Given the description of an element on the screen output the (x, y) to click on. 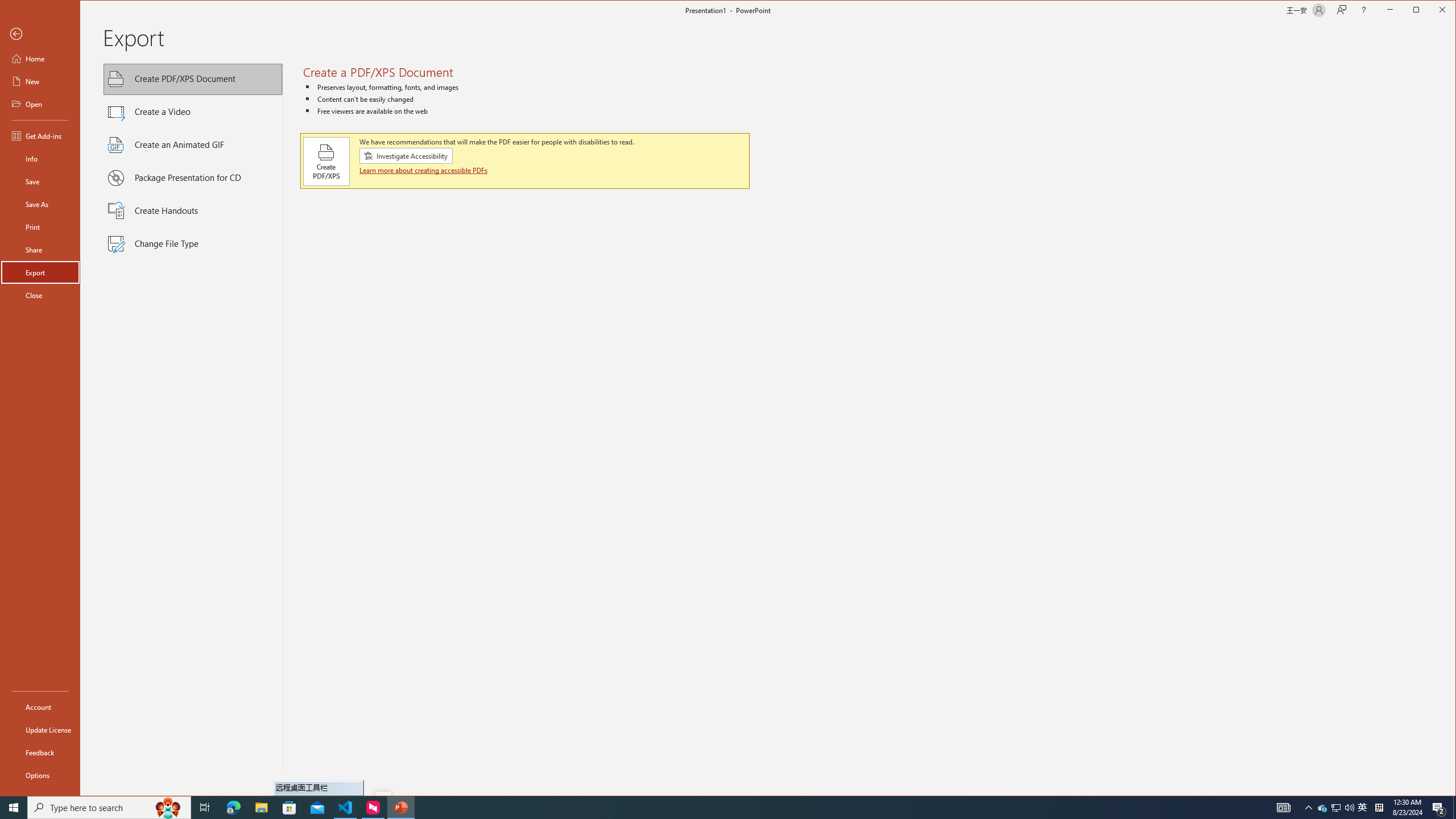
User Promoted Notification Area (1336, 807)
Package Presentation for CD (193, 178)
Create PDF/XPS (325, 160)
Search highlights icon opens search home window (167, 807)
Create a Video (193, 111)
Action Center, 2 new notifications (1439, 807)
Q2790: 100% (1349, 807)
Type here to search (108, 807)
Change File Type (193, 243)
Microsoft Store (289, 807)
